Given the description of an element on the screen output the (x, y) to click on. 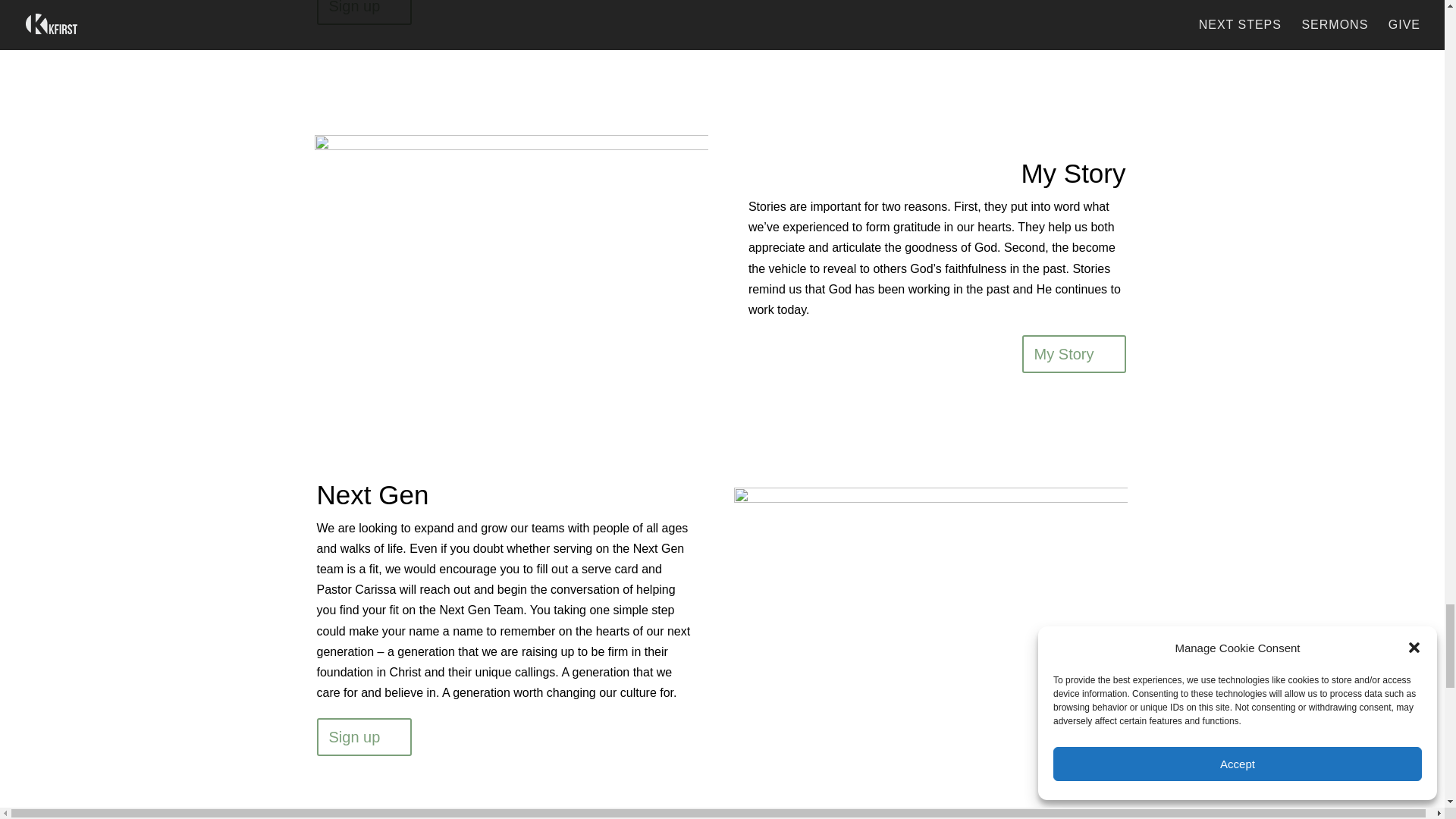
My Story (1073, 353)
Sign up (364, 736)
Sign up (364, 12)
